Given the description of an element on the screen output the (x, y) to click on. 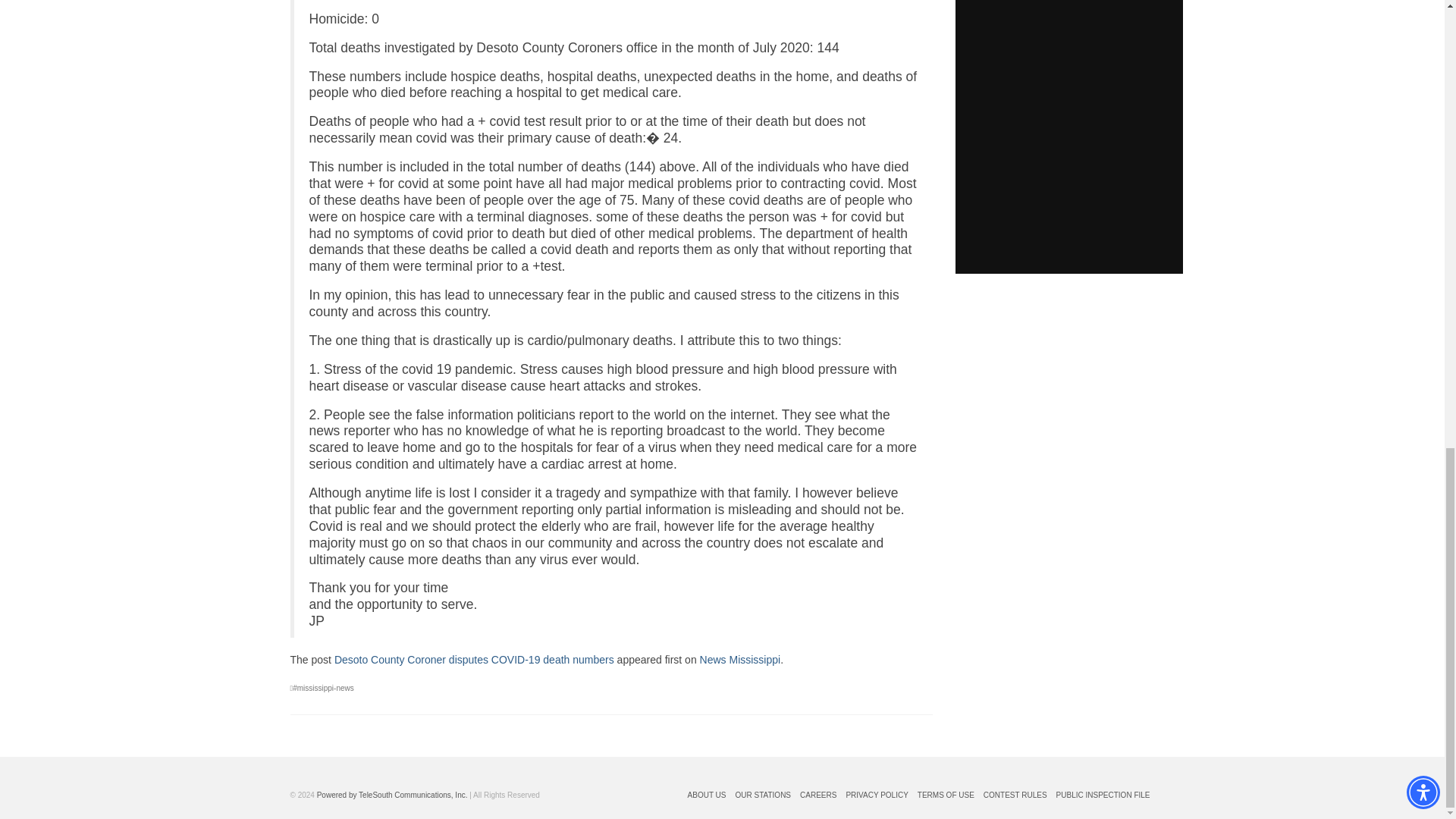
PRIVACY POLICY (876, 795)
CAREERS (817, 795)
Desoto County Coroner disputes COVID-19 death numbers (474, 659)
TERMS OF USE (945, 795)
News Mississippi (740, 659)
OUR STATIONS (763, 795)
ABOUT US (706, 795)
